Given the description of an element on the screen output the (x, y) to click on. 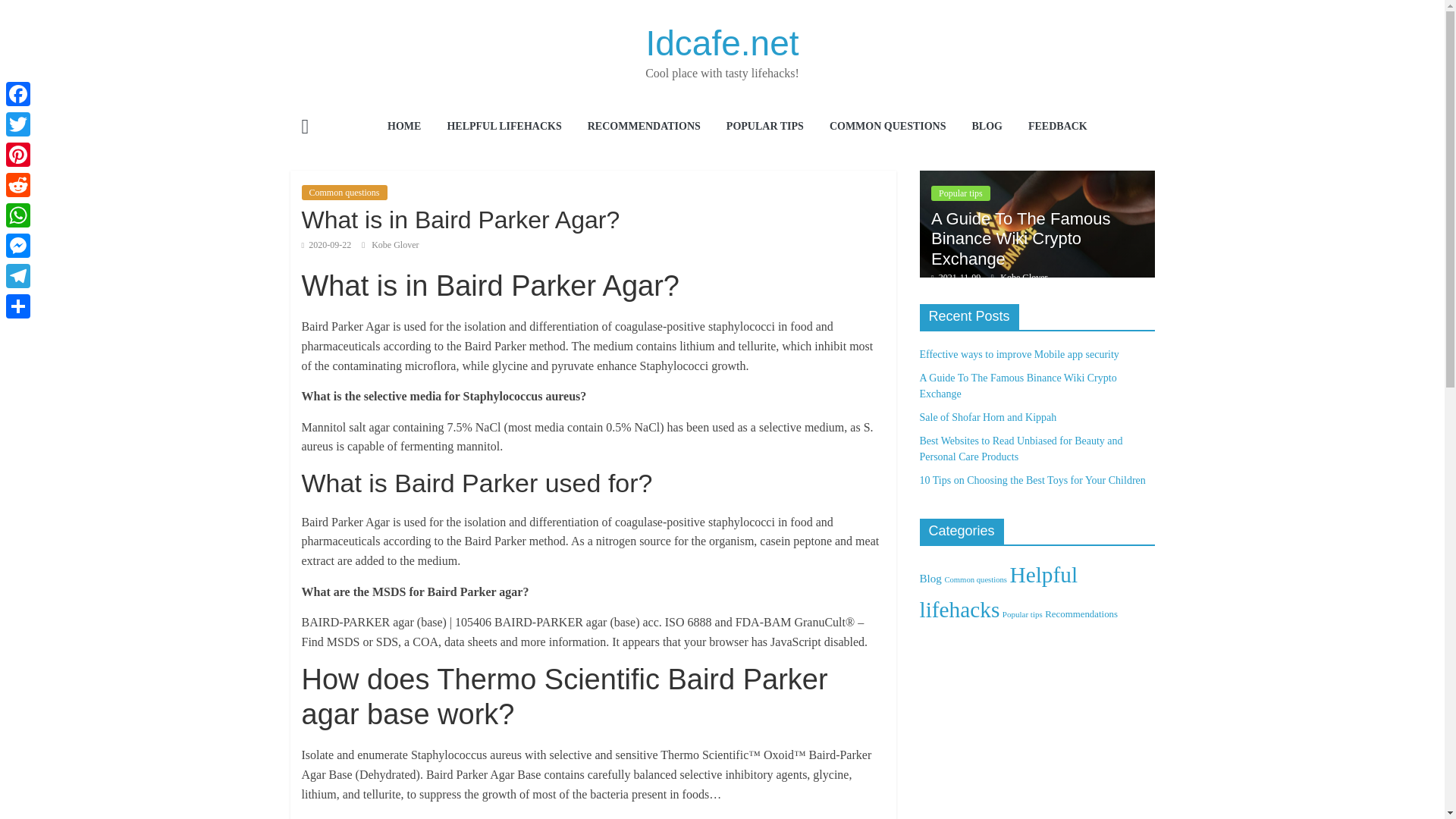
RECOMMENDATIONS (643, 126)
COMMON QUESTIONS (888, 126)
Idcafe.net (721, 43)
Idcafe.net (721, 43)
A Guide To The Famous Binance Wiki Crypto Exchange (1020, 238)
Popular tips (960, 192)
Kobe Glover (395, 244)
Effective ways to improve Mobile app security (801, 223)
Effective ways to improve Mobile app security (801, 178)
BLOG (986, 126)
